Given the description of an element on the screen output the (x, y) to click on. 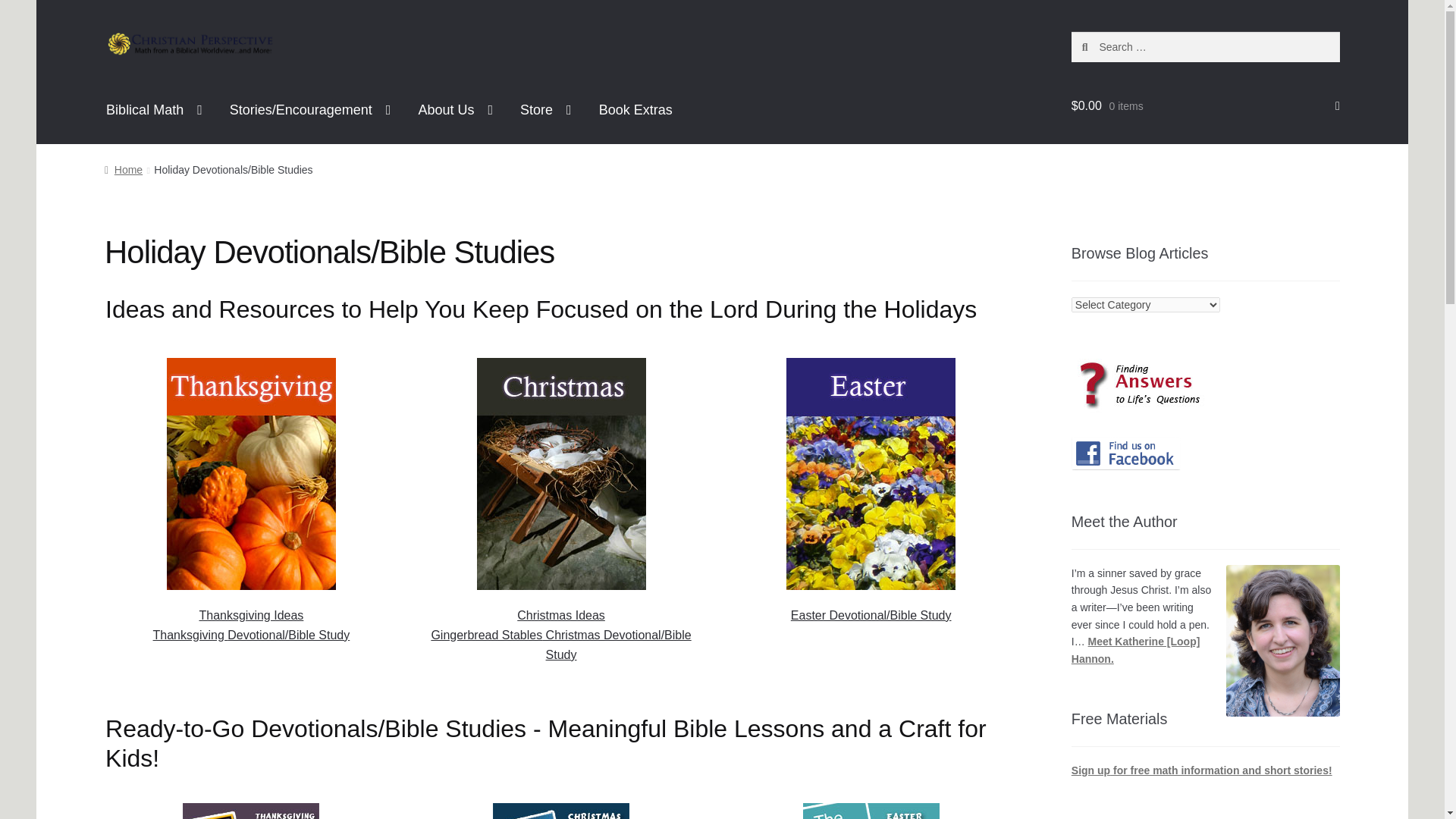
Store (545, 109)
About Us (455, 109)
Gingerbread Stables: A Twist on the Holiday Classic (485, 634)
View your shopping cart (1205, 106)
Biblical Math (154, 109)
